Given the description of an element on the screen output the (x, y) to click on. 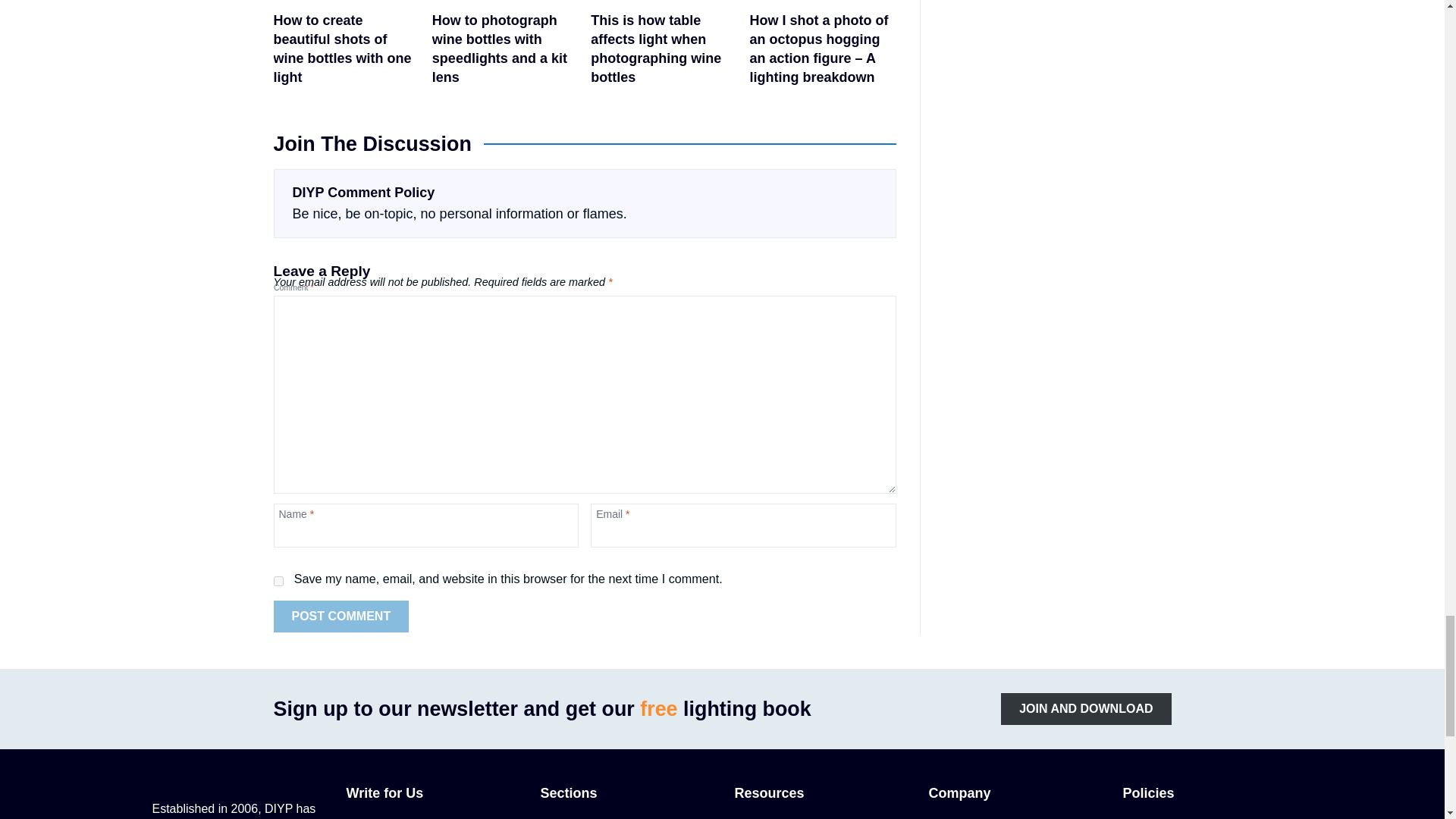
yes (277, 581)
Post Comment (341, 616)
How to create beautiful shots of wine bottles with one light (346, 47)
